Given the description of an element on the screen output the (x, y) to click on. 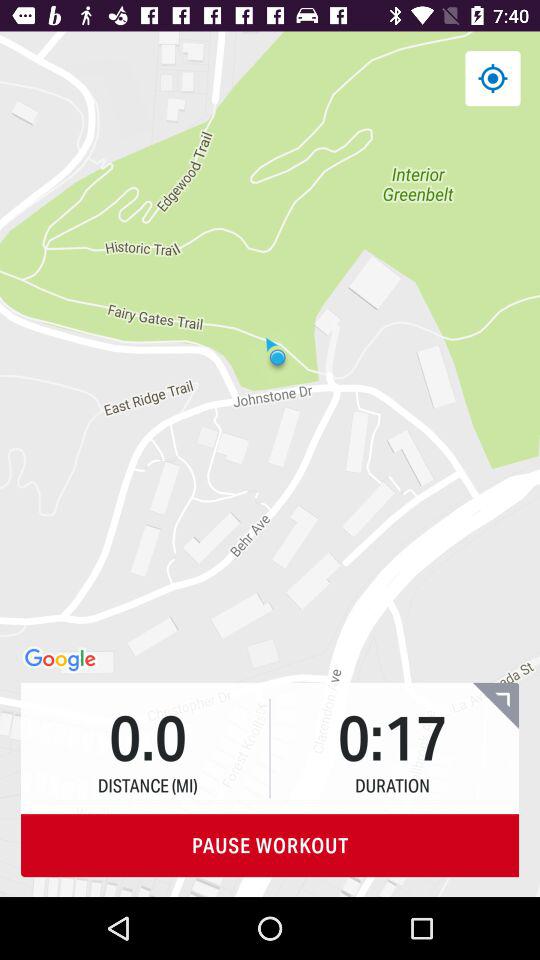
turn off the pause workout icon (270, 845)
